Given the description of an element on the screen output the (x, y) to click on. 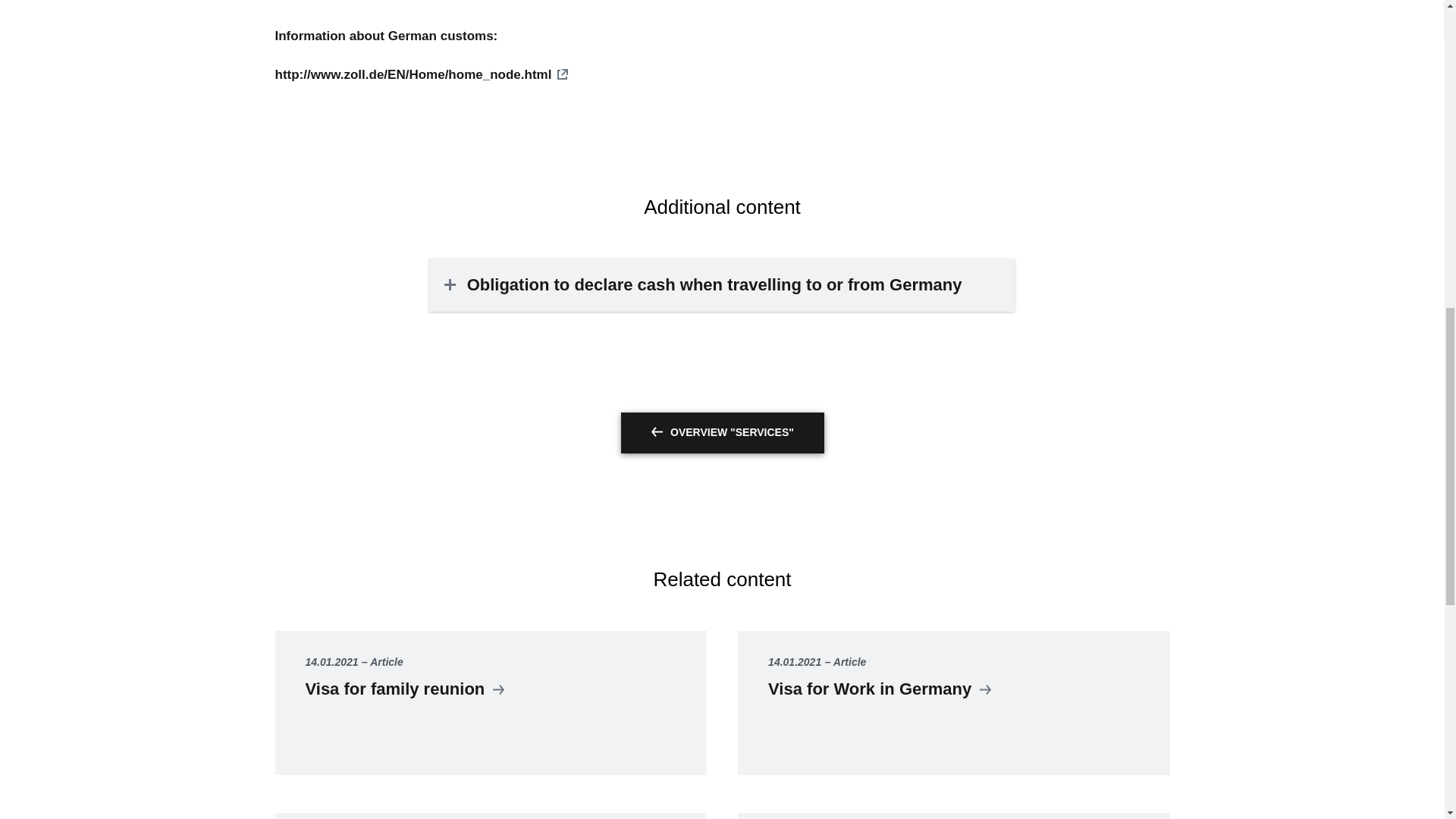
Overview Services (722, 432)
Visa for family reunion (490, 702)
OVERVIEW "SERVICES" (722, 432)
Working Holiday-programme (490, 816)
National Visas for stays of more than 90 days (953, 816)
